Given the description of an element on the screen output the (x, y) to click on. 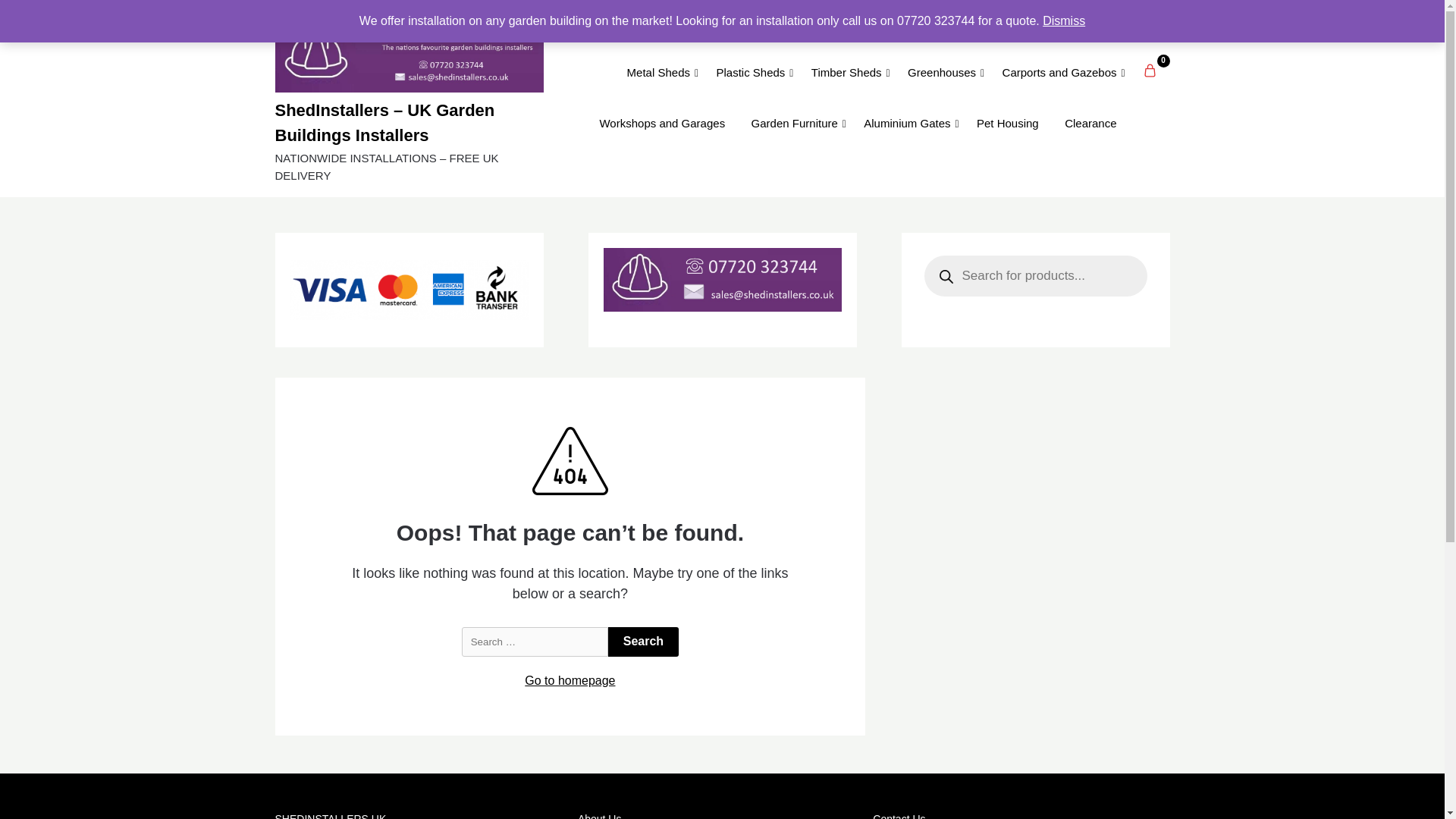
Timber Sheds (846, 73)
Search (643, 641)
Search (643, 641)
Metal Sheds (658, 73)
Plastic Sheds (750, 73)
